Given the description of an element on the screen output the (x, y) to click on. 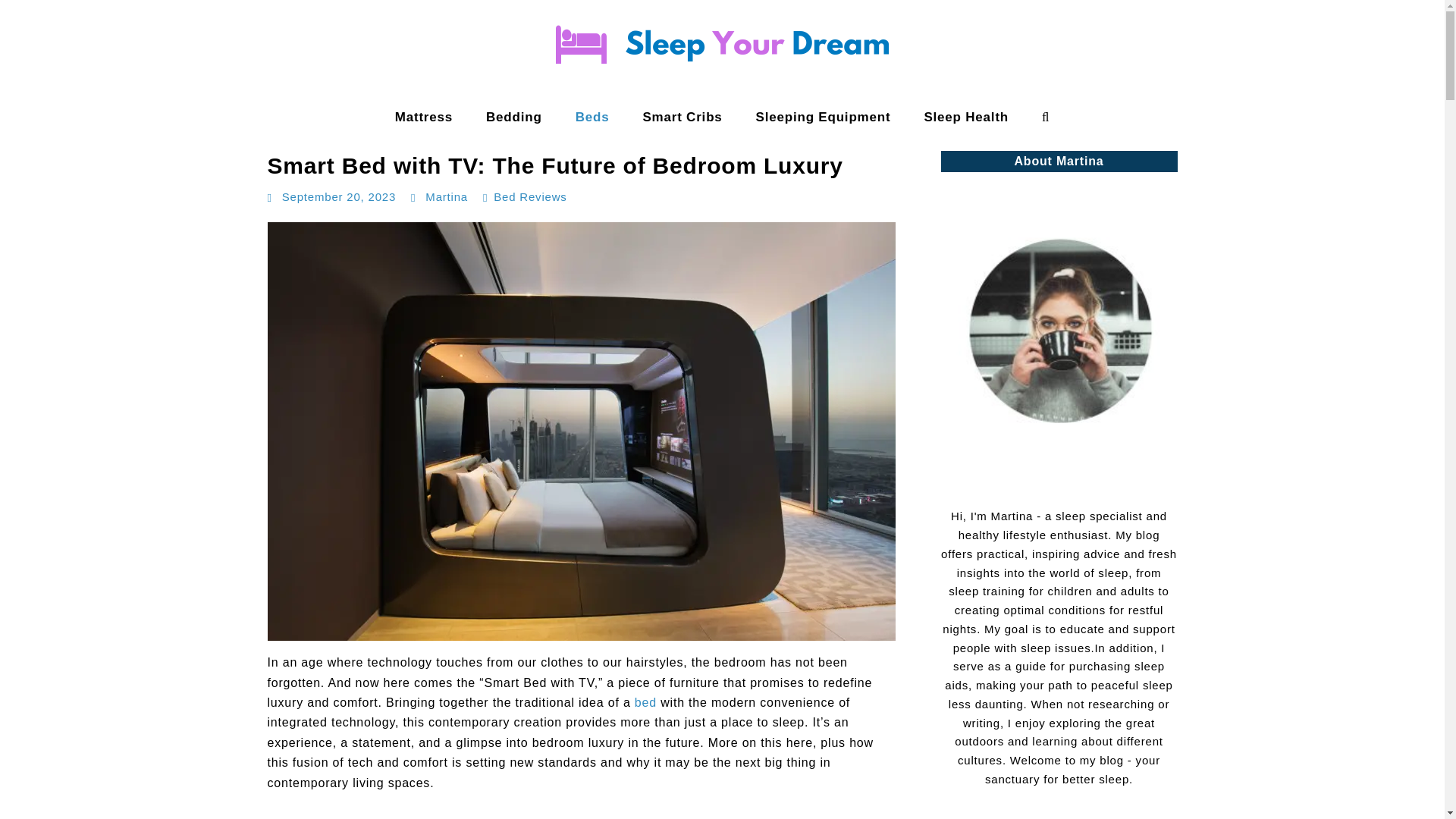
Beds (592, 117)
Bedding (513, 117)
Sleep Your Dream (69, 132)
Mattress (423, 117)
